Given the description of an element on the screen output the (x, y) to click on. 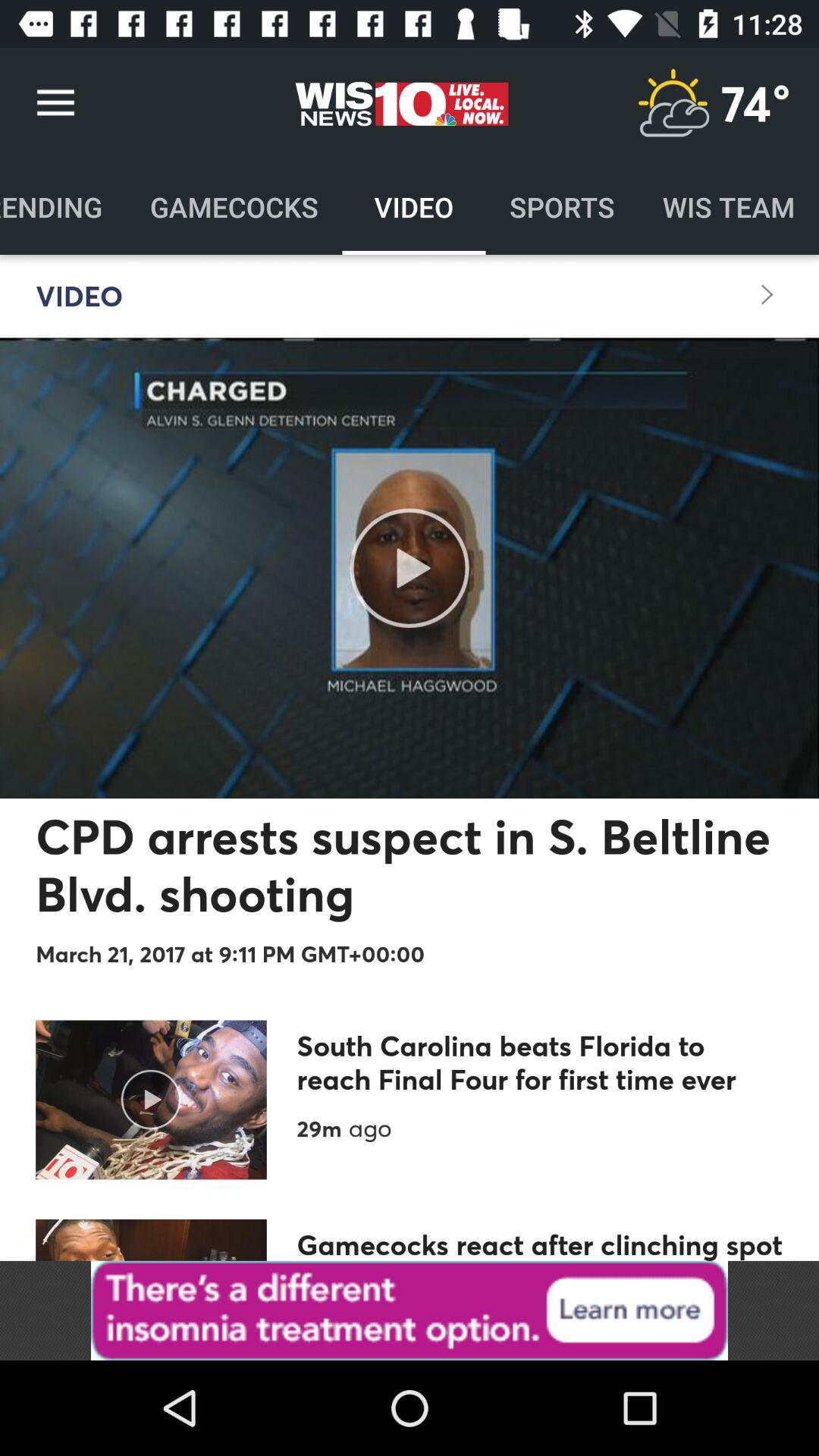
show weather (673, 103)
